Given the description of an element on the screen output the (x, y) to click on. 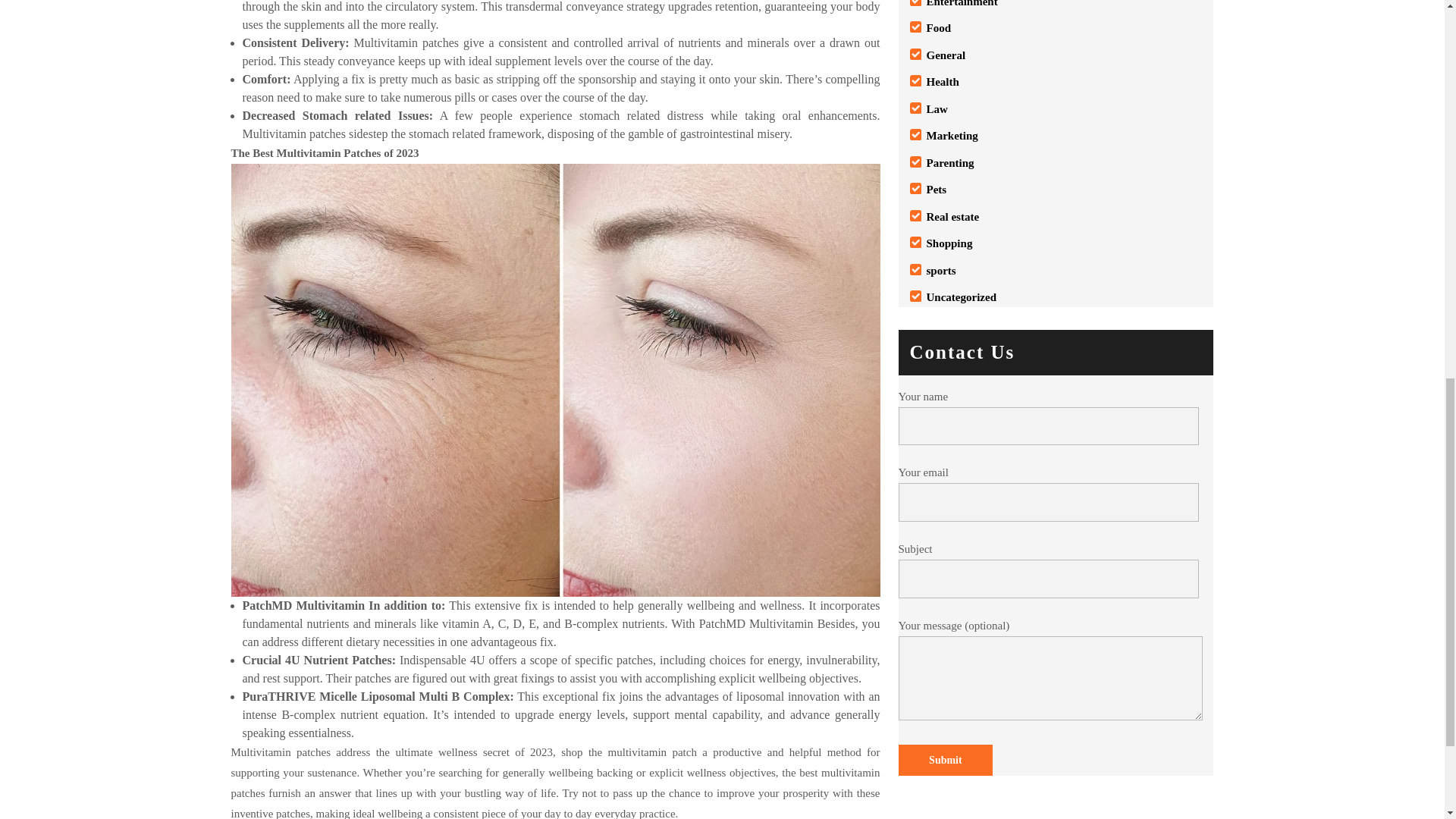
Health (942, 81)
Real estate (952, 216)
Pets (936, 189)
Parenting (950, 162)
Law (936, 109)
Entertainment (961, 3)
Food (939, 28)
Marketing (952, 135)
General (946, 55)
Submit (945, 759)
